Given the description of an element on the screen output the (x, y) to click on. 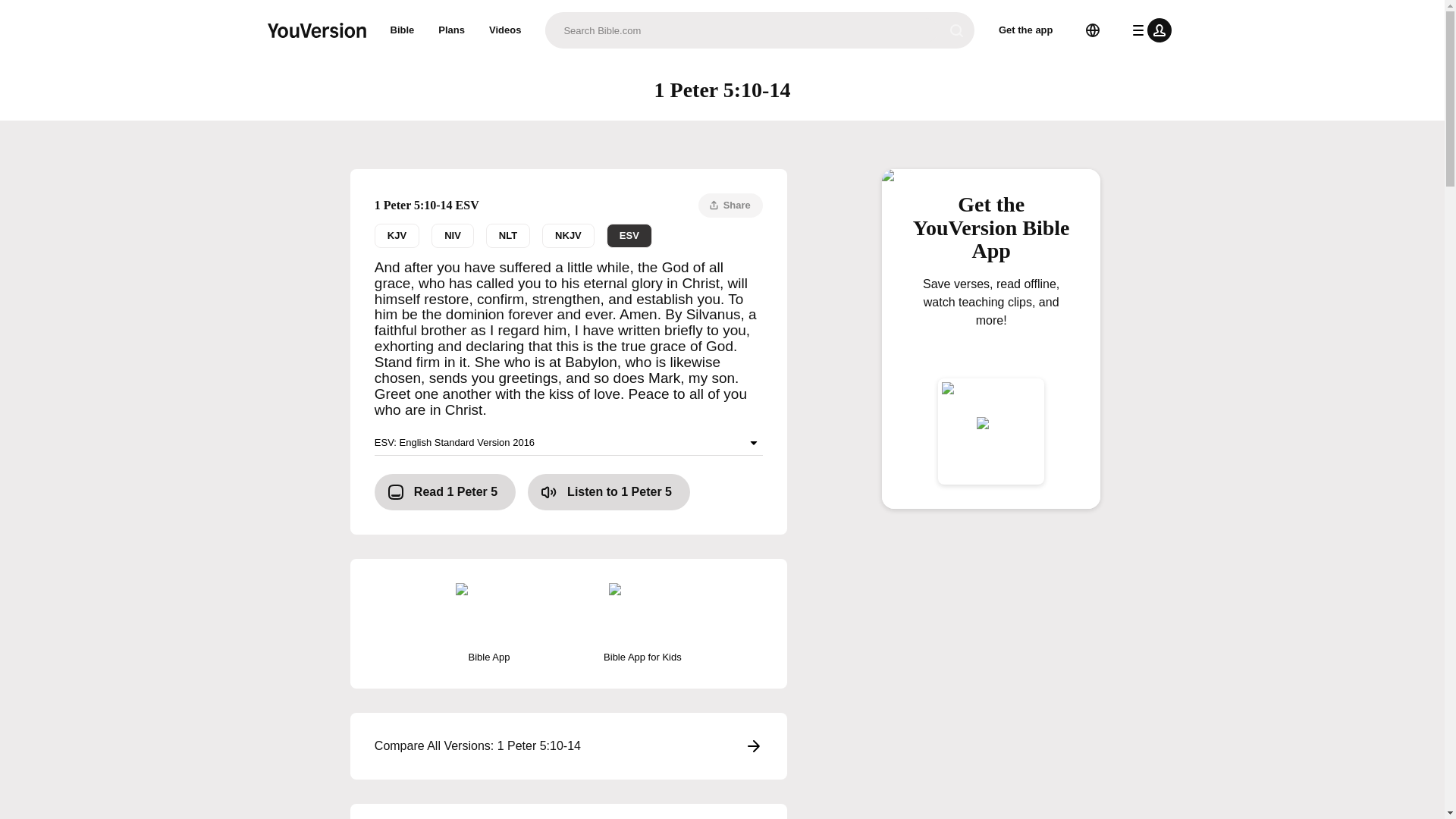
NLT (507, 235)
ESV: English Standard Version 2016 (568, 442)
NIV (452, 235)
Share (730, 205)
Videos (504, 29)
Compare All Versions: 1 Peter 5:10-14 (568, 746)
Plans (451, 29)
ESV (629, 235)
Bible App for Kids (642, 624)
NKJV (567, 235)
